Given the description of an element on the screen output the (x, y) to click on. 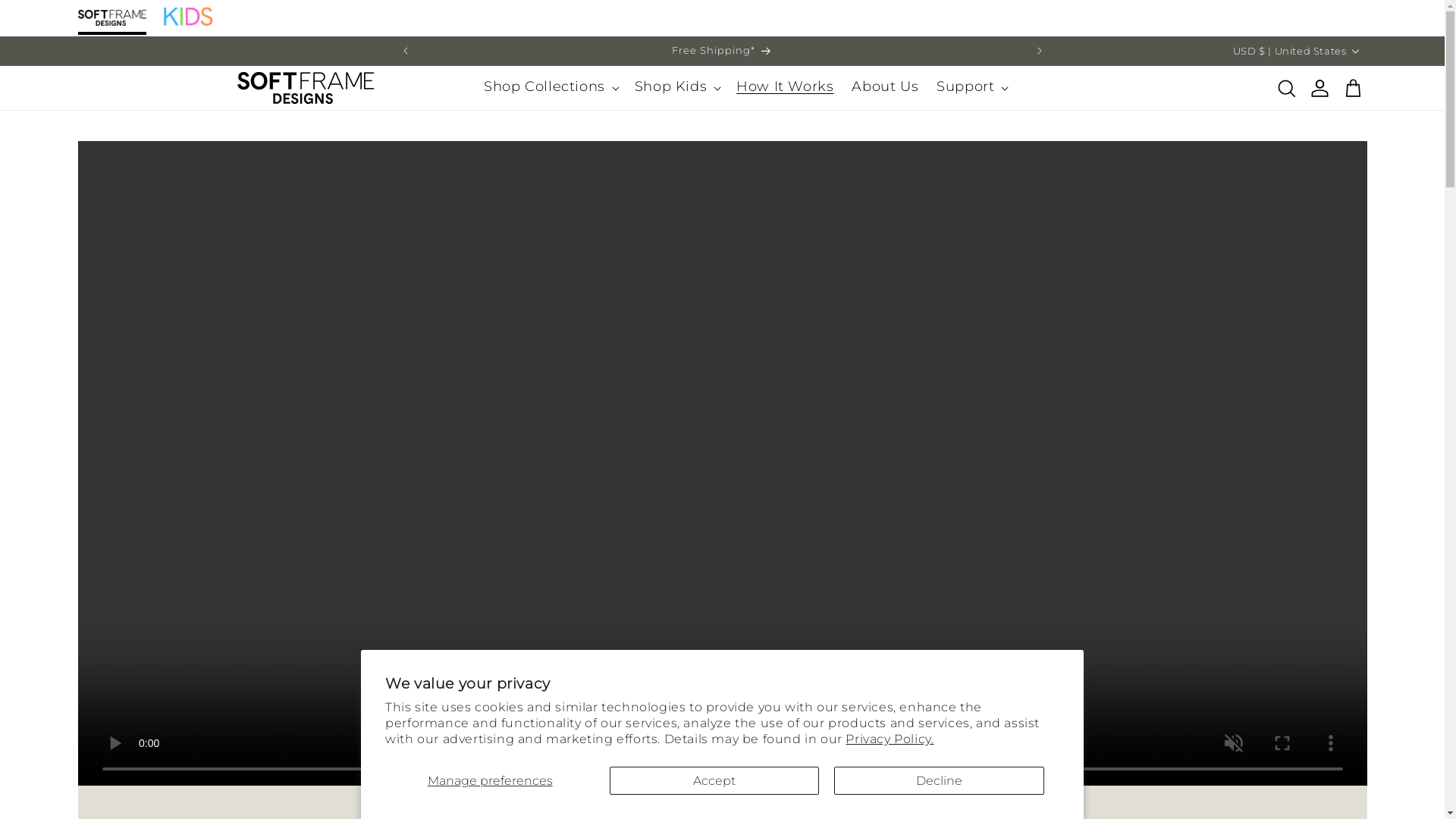
Skip to content (45, 17)
Decline (938, 780)
Manage preferences (489, 780)
Privacy Policy. (889, 739)
Accept (714, 780)
